Given the description of an element on the screen output the (x, y) to click on. 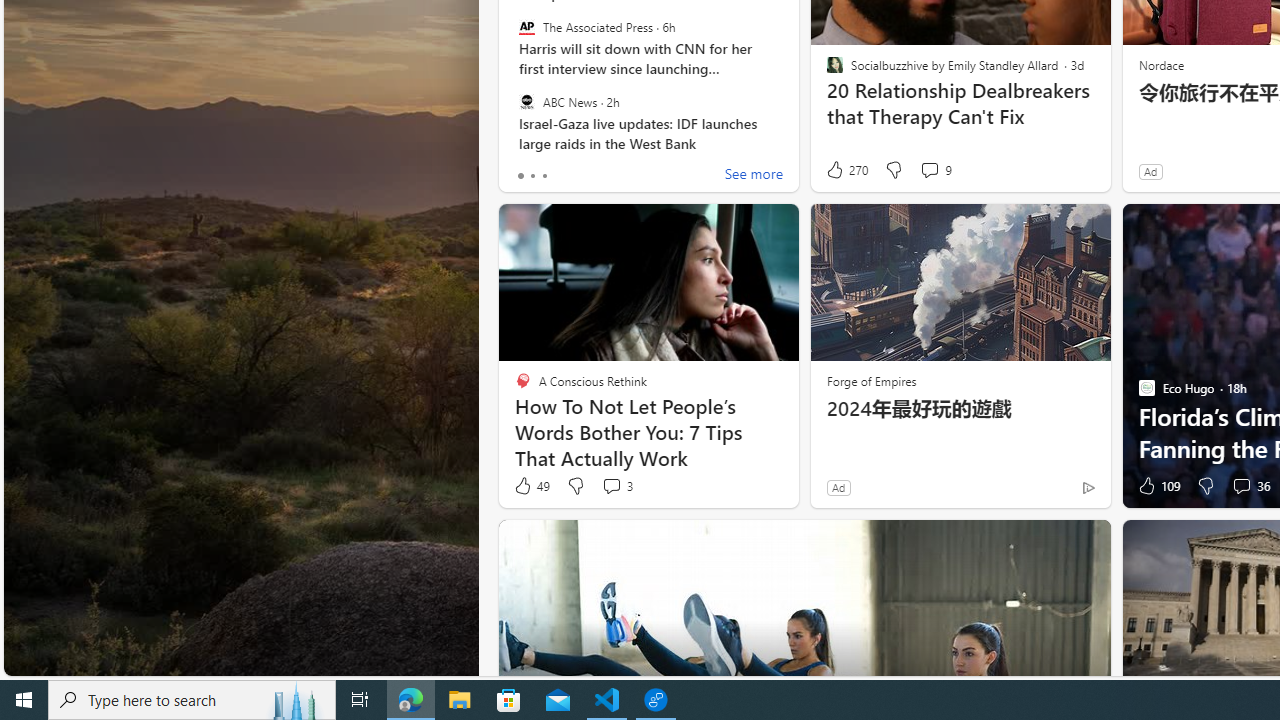
109 Like (1157, 485)
The Associated Press (526, 27)
tab-1 (532, 175)
tab-2 (543, 175)
49 Like (531, 485)
View comments 9 Comment (935, 170)
Forge of Empires (870, 380)
See more (753, 175)
